Given the description of an element on the screen output the (x, y) to click on. 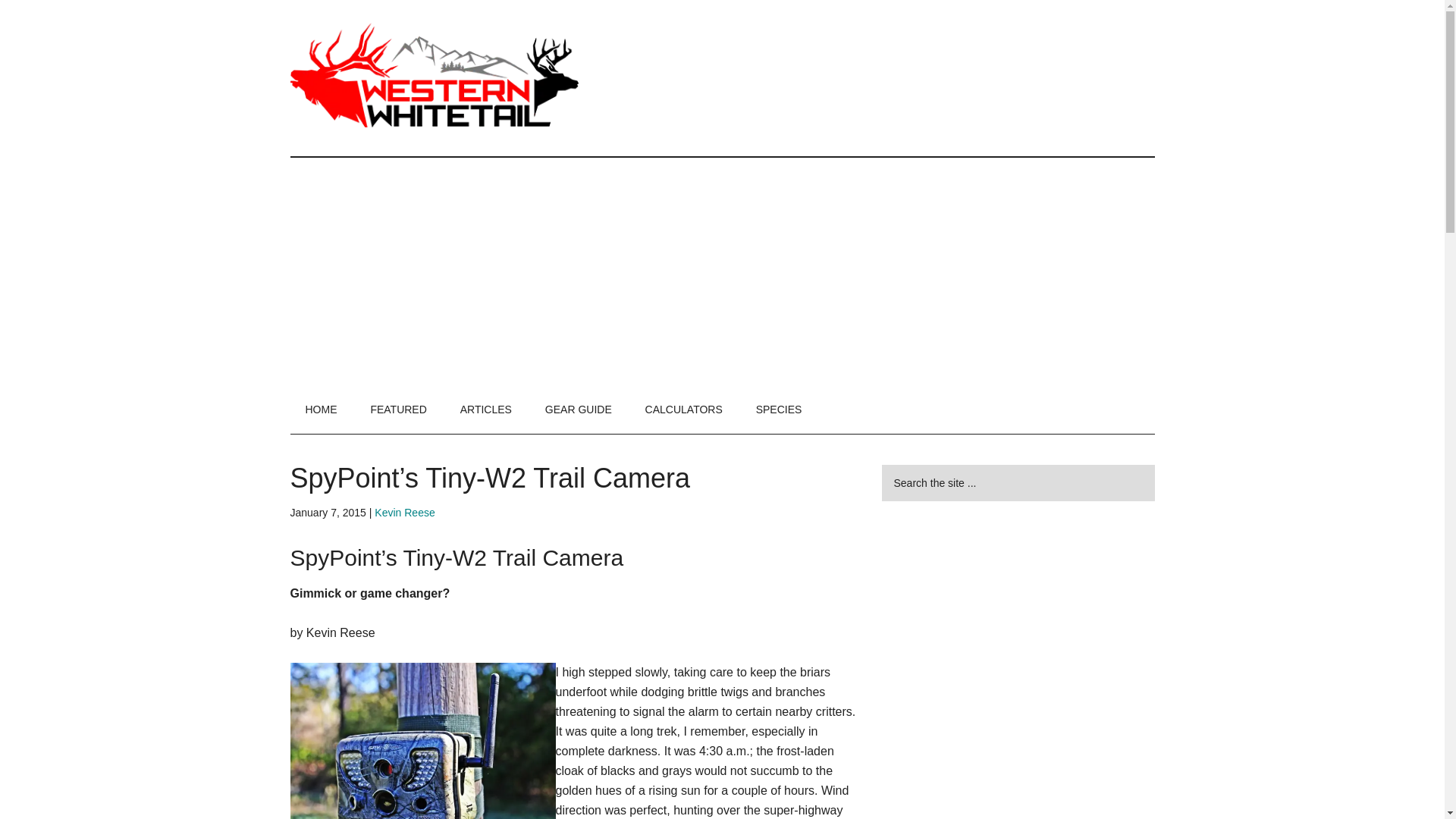
ARTICLES (486, 409)
FEATURED (398, 409)
CALCULATORS (684, 409)
HOME (320, 409)
SPECIES (778, 409)
Kevin Reese (403, 512)
GEAR GUIDE (578, 409)
